Given the description of an element on the screen output the (x, y) to click on. 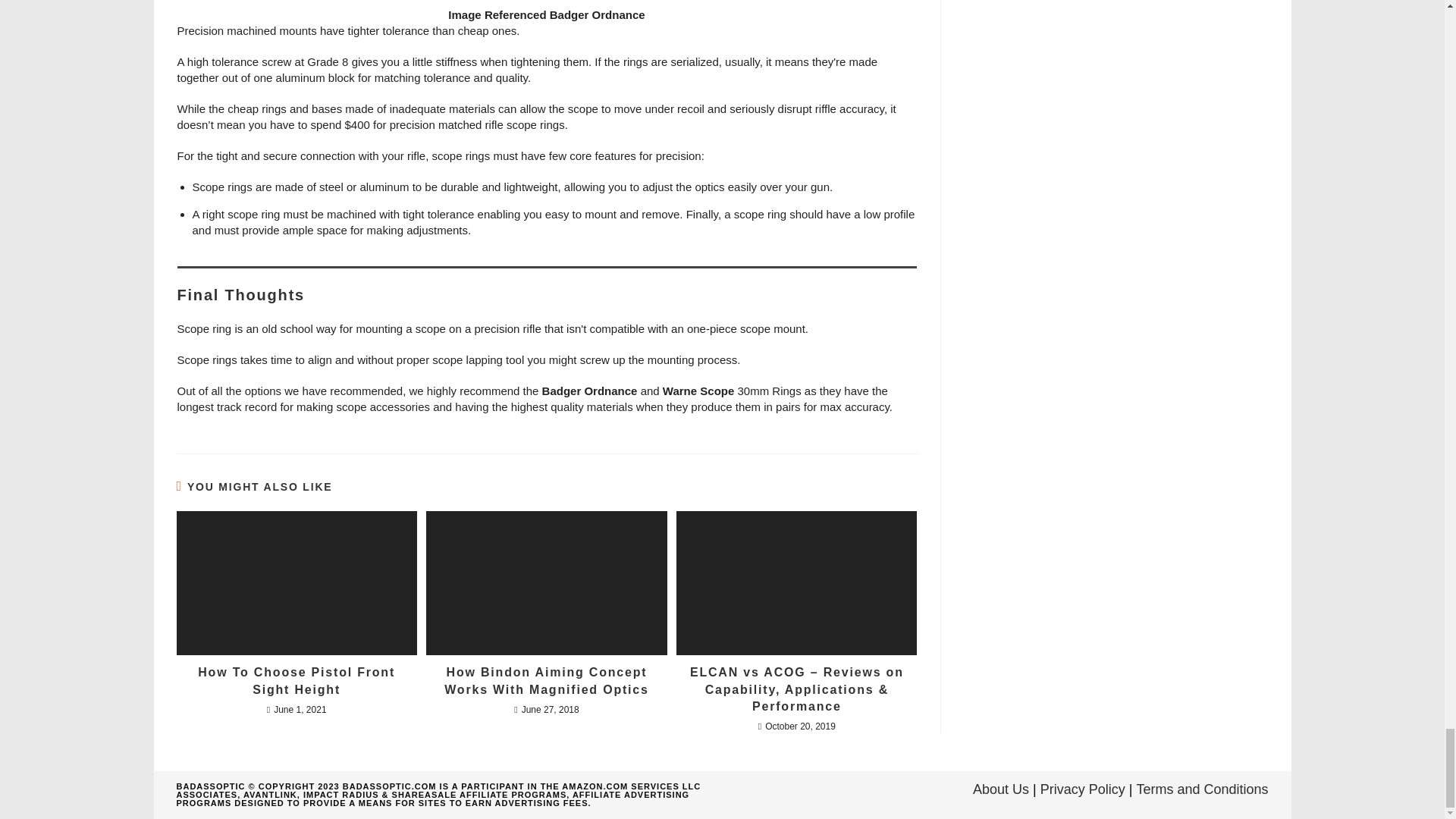
Best 30mm Scope Rings For The Money 8 (546, 3)
